Given the description of an element on the screen output the (x, y) to click on. 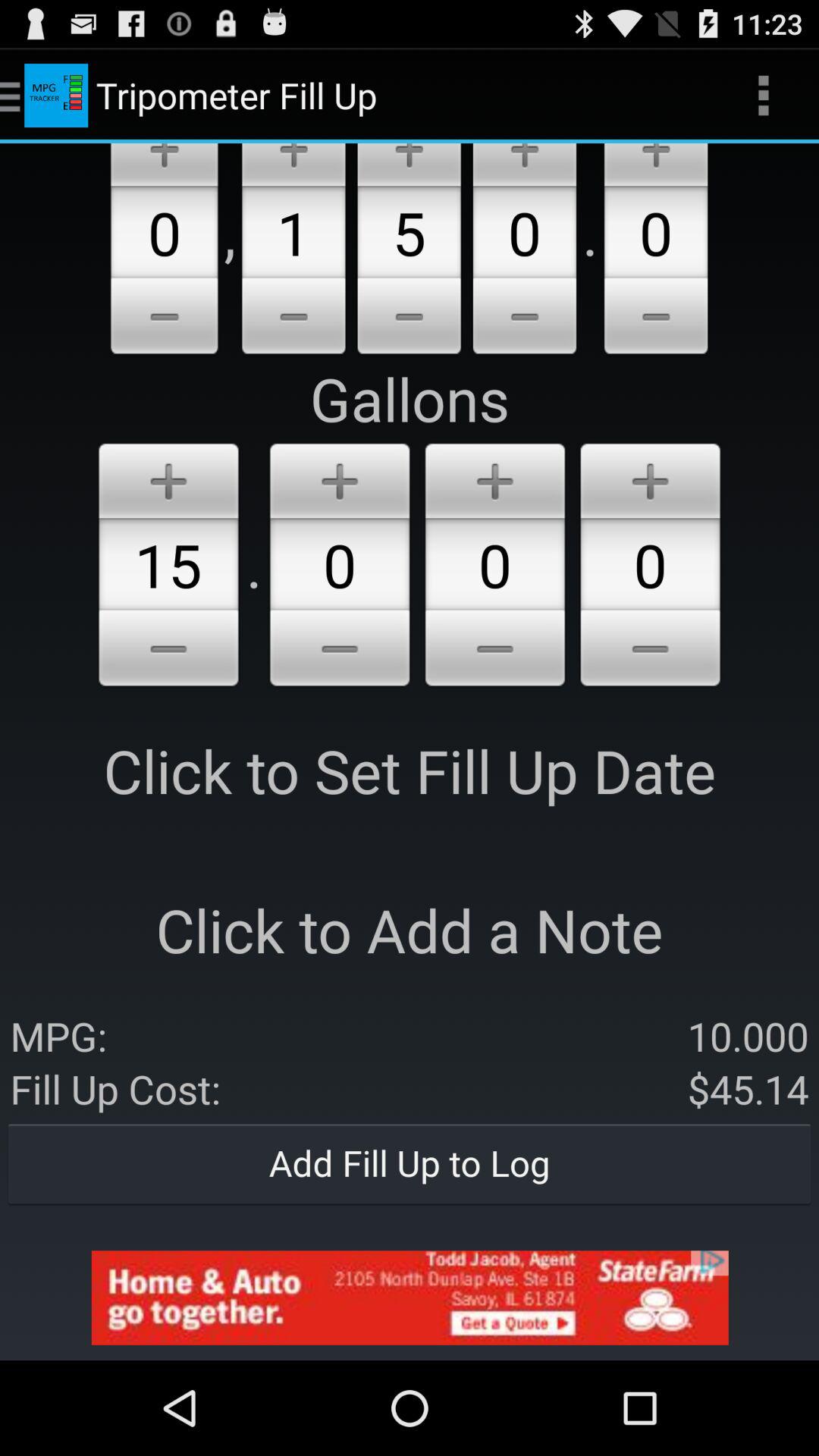
add to the selection (408, 164)
